Given the description of an element on the screen output the (x, y) to click on. 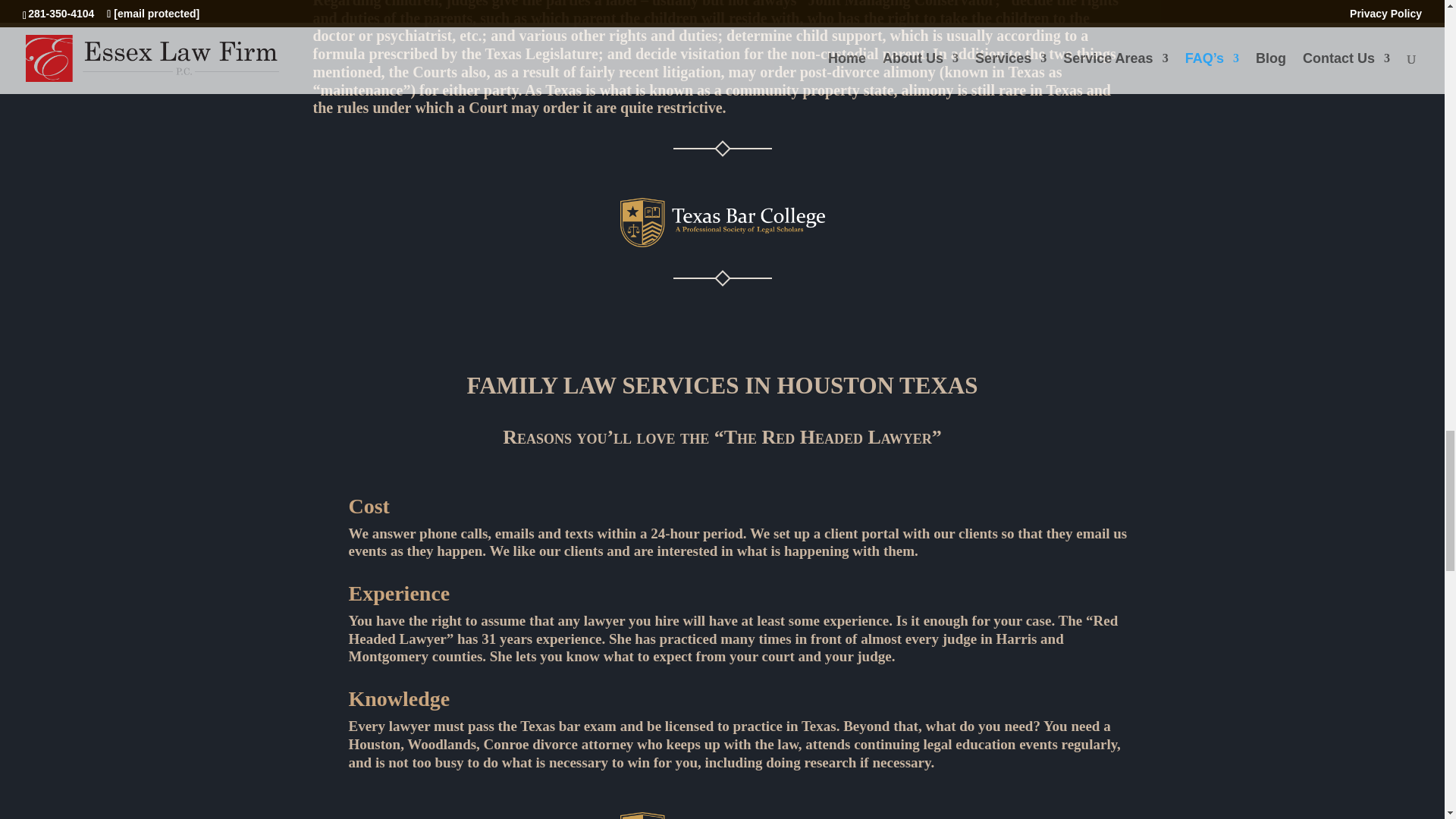
attorney-1 (721, 278)
attorney-1 (721, 148)
texas-bar-college-logo-light (722, 222)
texas-bar-college-logo-light (722, 815)
